Given the description of an element on the screen output the (x, y) to click on. 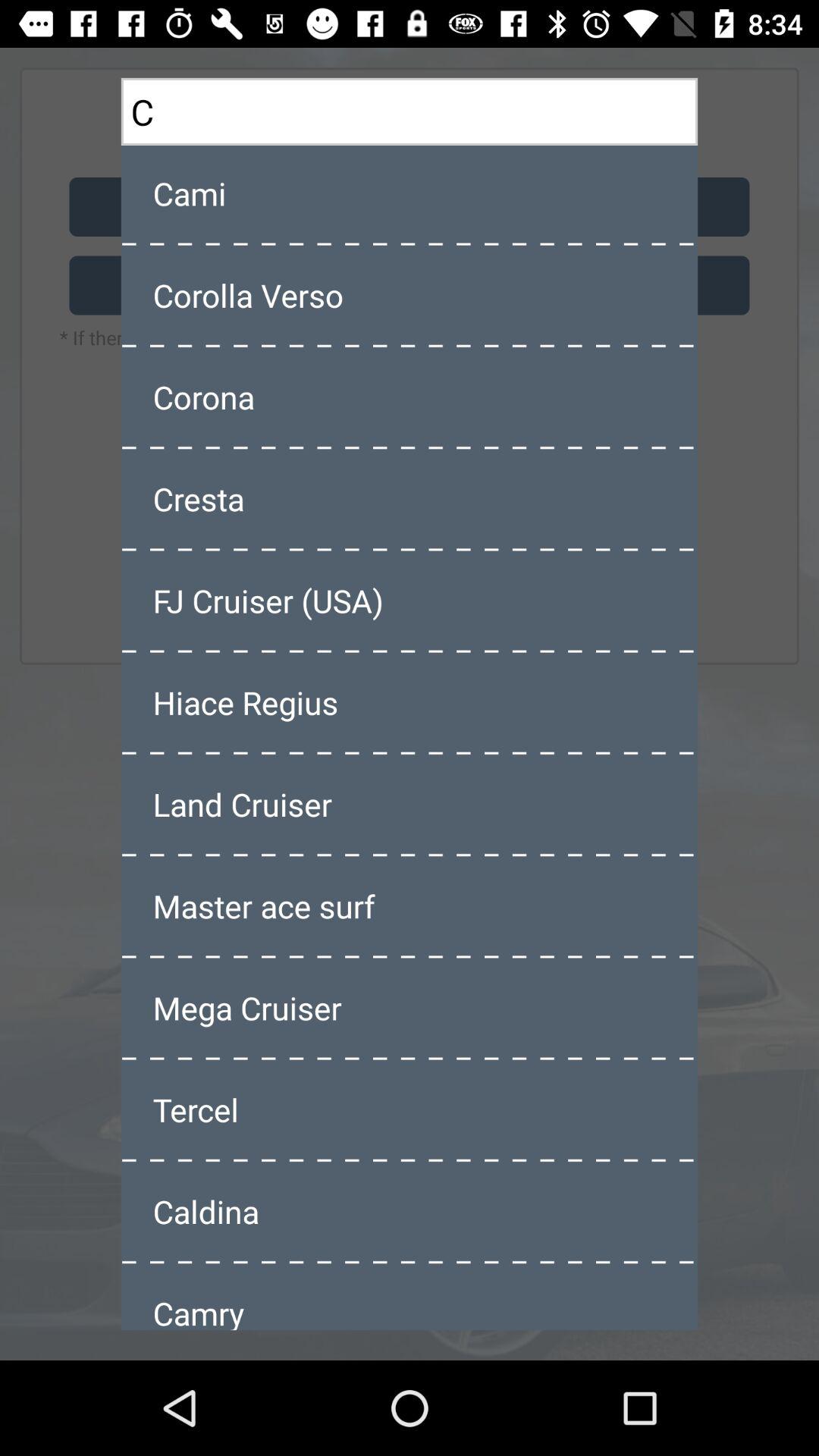
tap the item below the mega cruiser item (409, 1109)
